Given the description of an element on the screen output the (x, y) to click on. 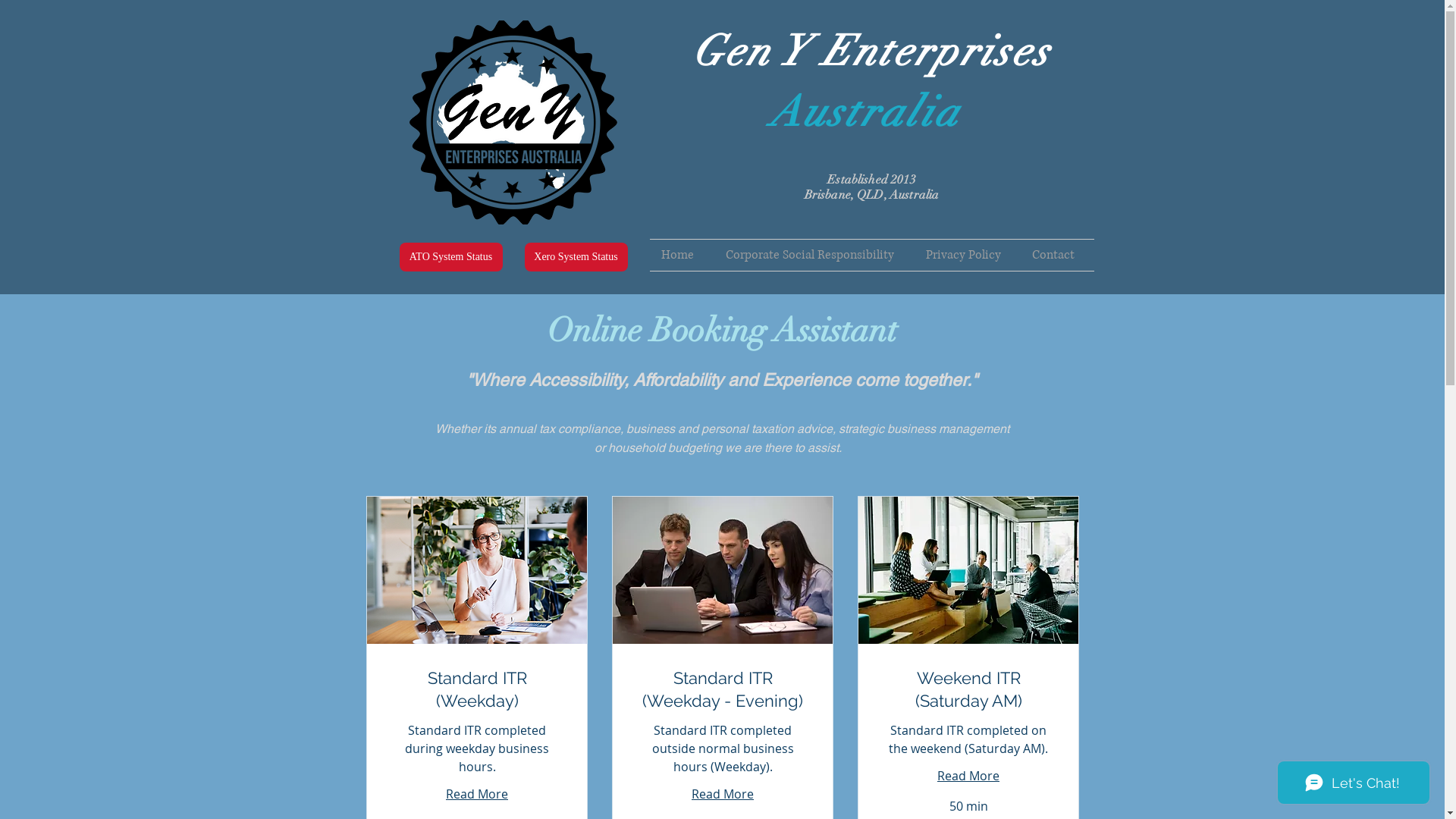
Standard ITR (Weekday) Element type: text (475, 689)
ATO System Status Element type: text (450, 256)
Xero System Status Element type: text (575, 256)
Gen Y Enterprises Australia  Element type: text (871, 81)
Privacy Policy Element type: text (967, 254)
Corporate Social Responsibility Element type: text (814, 254)
Standard ITR (Weekday - Evening) Element type: text (721, 689)
Home Element type: text (681, 254)
Read More Element type: text (968, 775)
Read More Element type: text (476, 793)
Weekend ITR (Saturday AM) Element type: text (967, 689)
Read More Element type: text (722, 793)
Contact Element type: text (1057, 254)
